Given the description of an element on the screen output the (x, y) to click on. 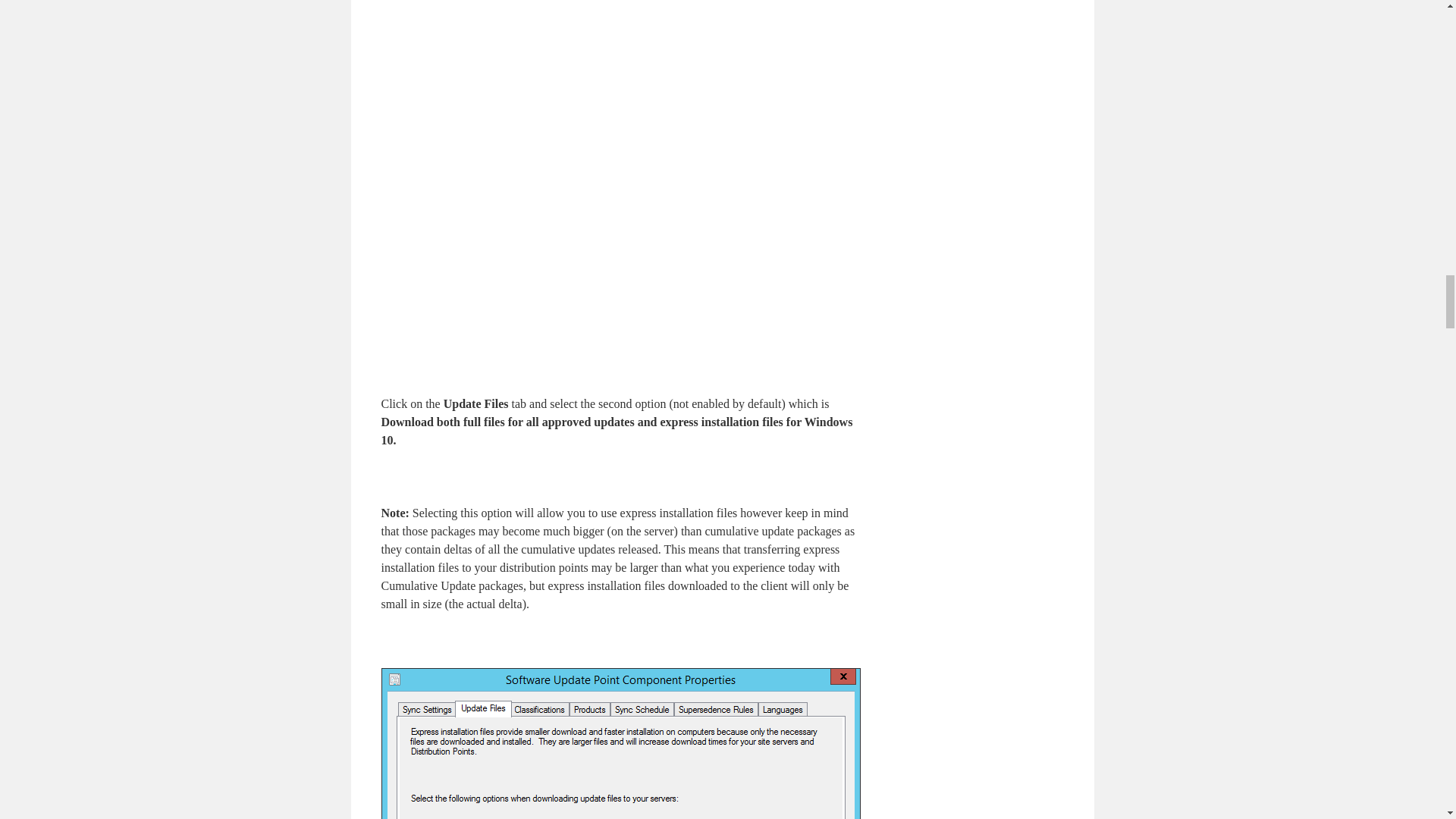
software update point.png - Size: 148.09KB (768, 330)
